Given the description of an element on the screen output the (x, y) to click on. 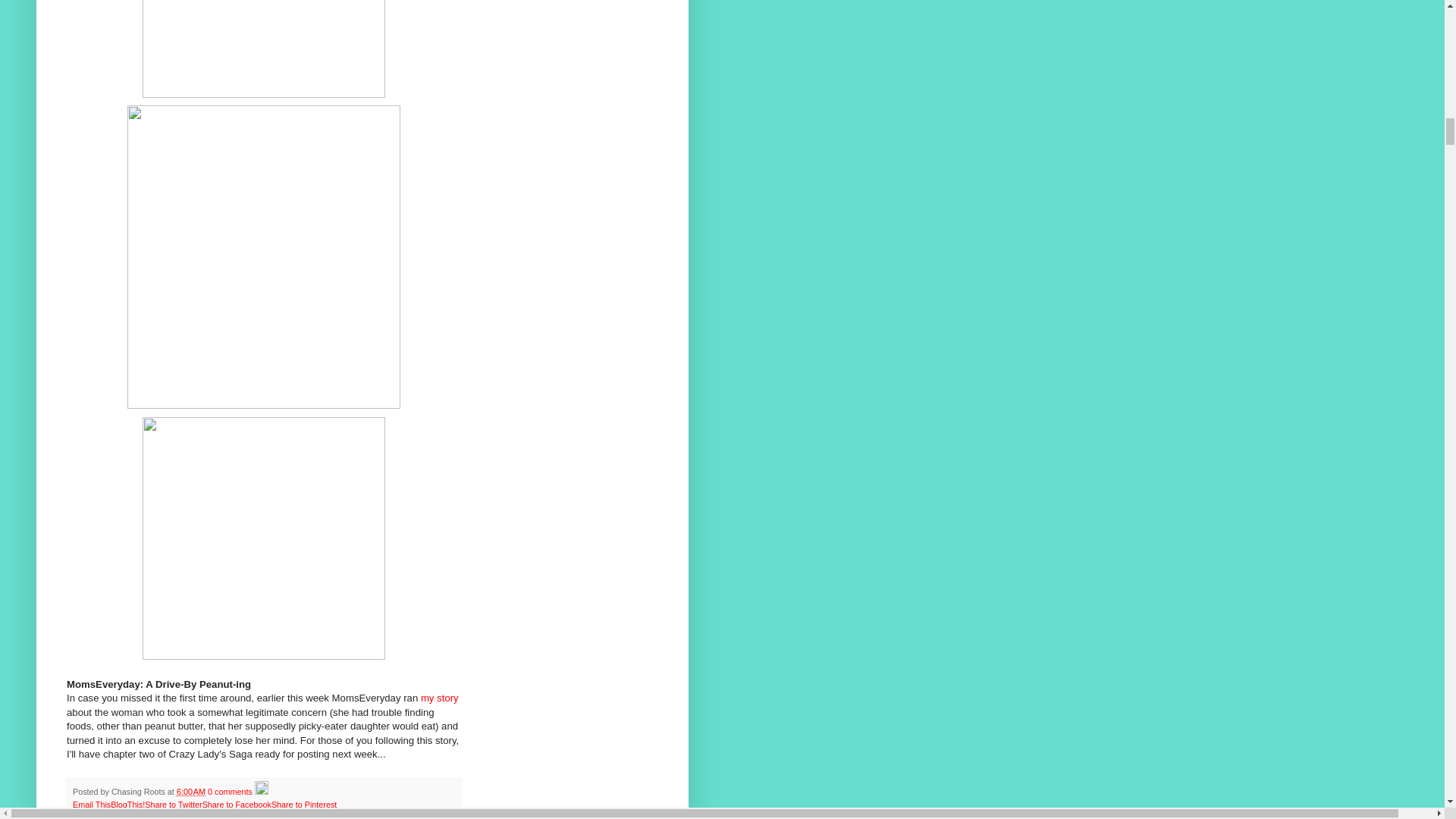
BlogThis! (127, 804)
Email This (91, 804)
Edit Post (260, 791)
Share to Pinterest (303, 804)
Share to Facebook (236, 804)
BlogThis! (127, 804)
Share to Facebook (236, 804)
Email This (91, 804)
Share to Pinterest (303, 804)
permanent link (190, 791)
0 comments (229, 791)
Share to Twitter (173, 804)
Share to Twitter (173, 804)
my story (439, 697)
